Given the description of an element on the screen output the (x, y) to click on. 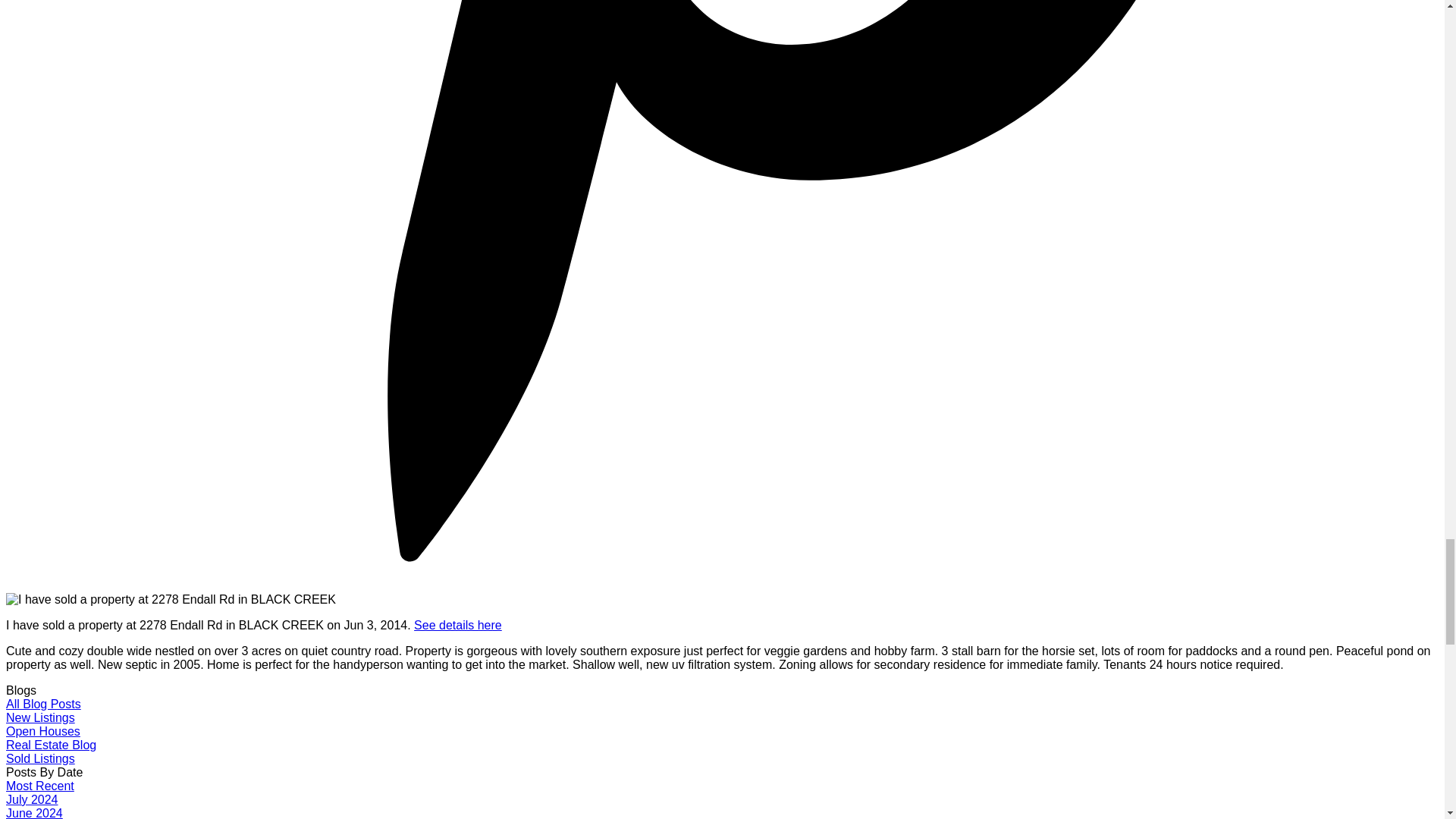
Sold Listings (40, 758)
See details here (457, 625)
Real Estate Blog (50, 744)
All Blog Posts (43, 703)
Open Houses (42, 730)
June 2024 (33, 812)
July 2024 (31, 799)
New Listings (40, 717)
Most Recent (39, 785)
